Given the description of an element on the screen output the (x, y) to click on. 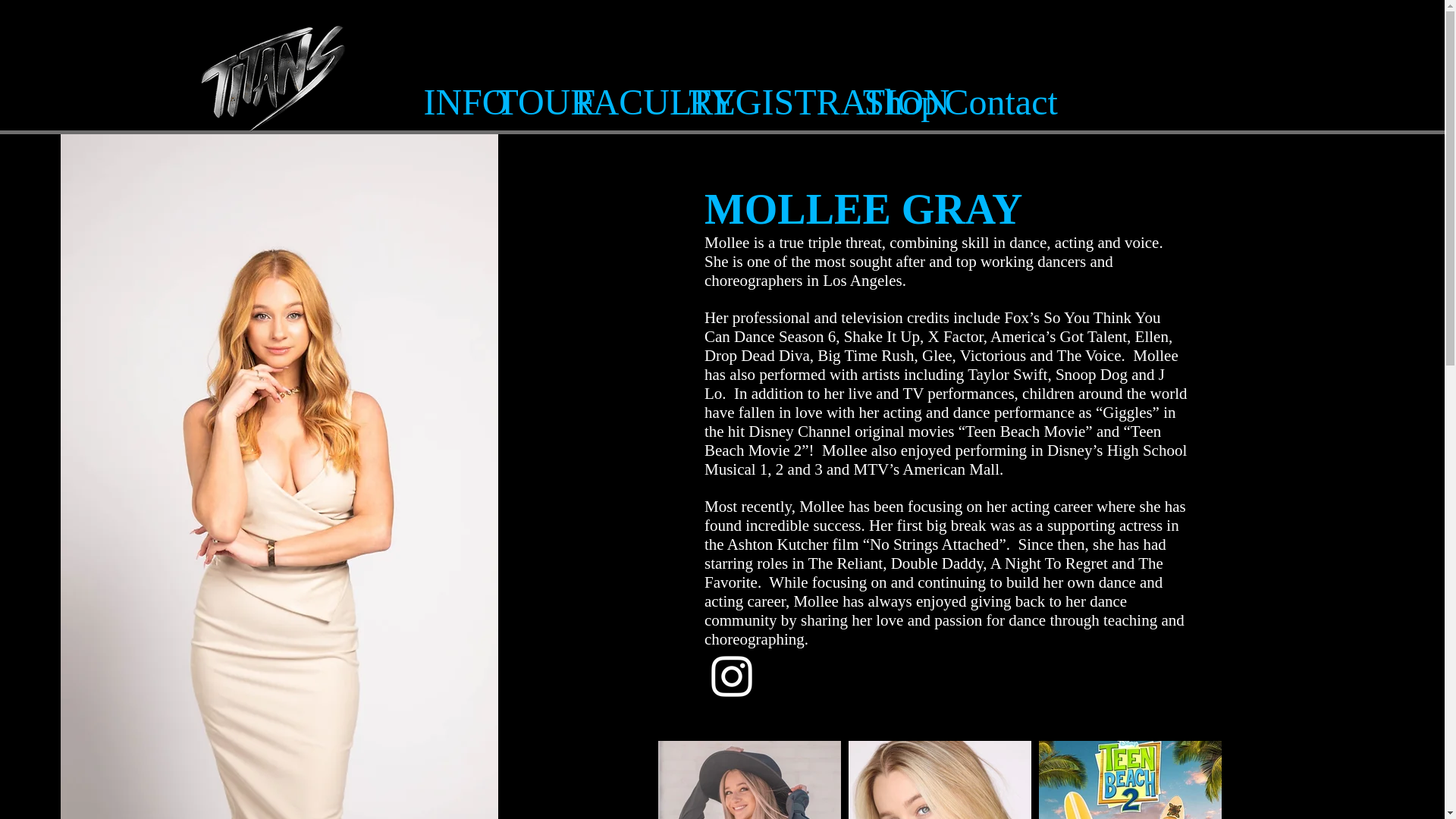
TOUR (524, 102)
FACULTY (621, 102)
Shop (892, 102)
Contact (992, 102)
REGISTRATION (765, 102)
